Given the description of an element on the screen output the (x, y) to click on. 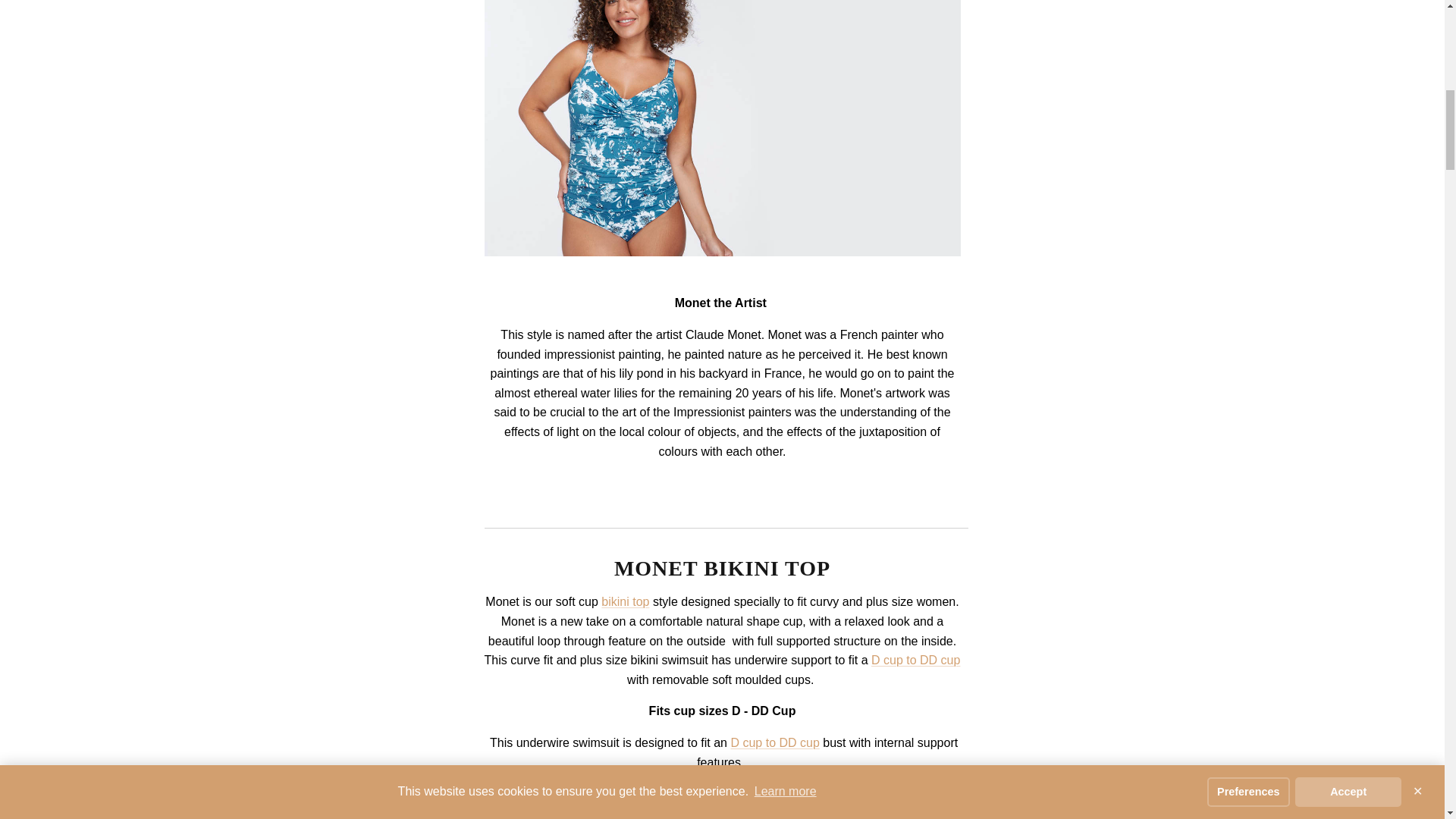
Artesands Curve D-DD Cup Plus Size Swimwear (914, 659)
Artesands Curve D-DD Cup Plus Size Swimwear (774, 742)
Artesands Curve Plus Size One Piece Swimwear (721, 251)
Artesands Curve Plus Size Bikini Top (625, 601)
